Given the description of an element on the screen output the (x, y) to click on. 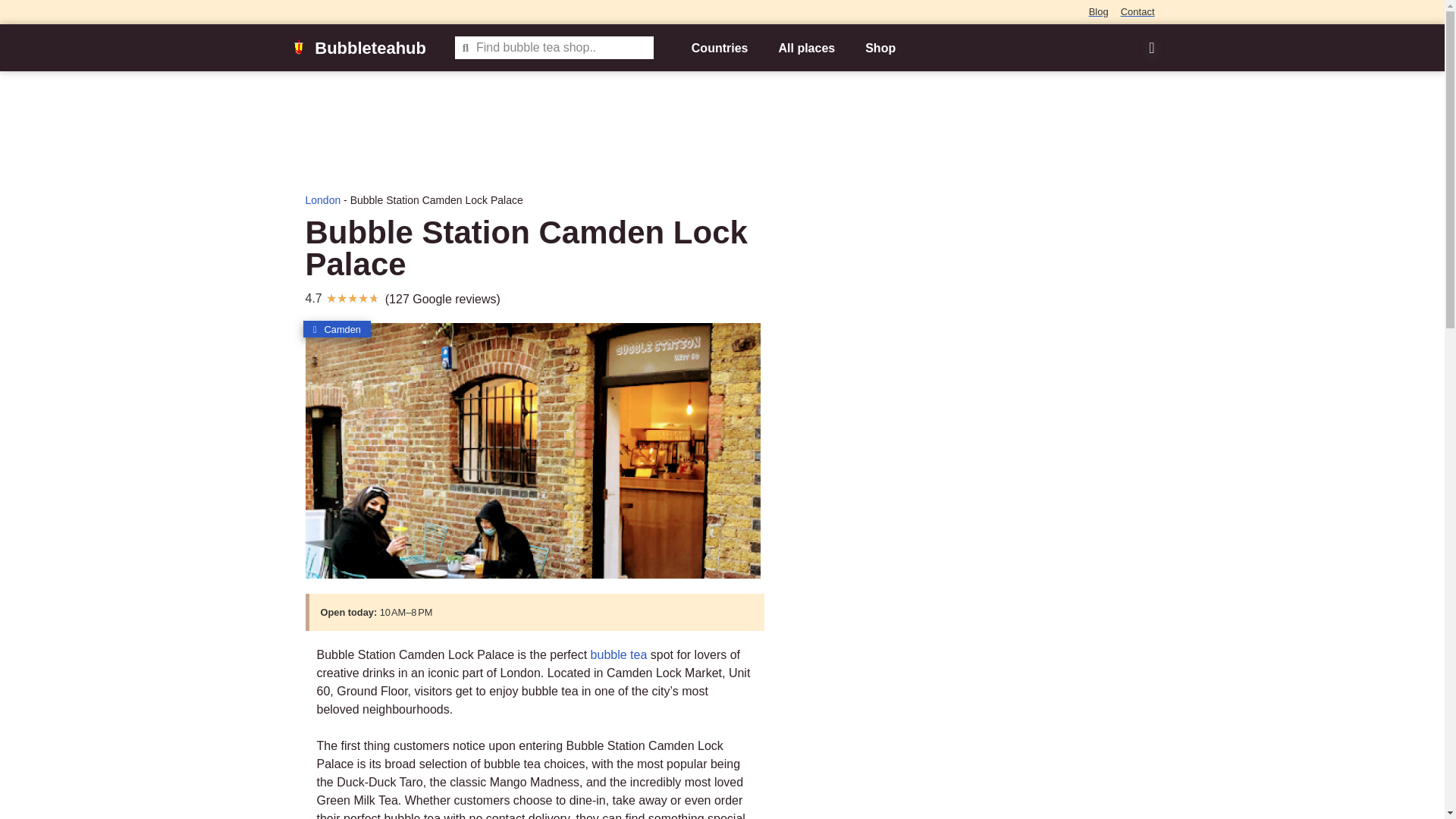
All places (806, 48)
bubble-station-camden-lock-palace (532, 450)
Camden (336, 329)
Shop (880, 48)
bubble tea (619, 654)
Blog (1098, 11)
Countries (719, 48)
Contact (1137, 11)
London (322, 200)
Bubbleteahub (370, 47)
